Given the description of an element on the screen output the (x, y) to click on. 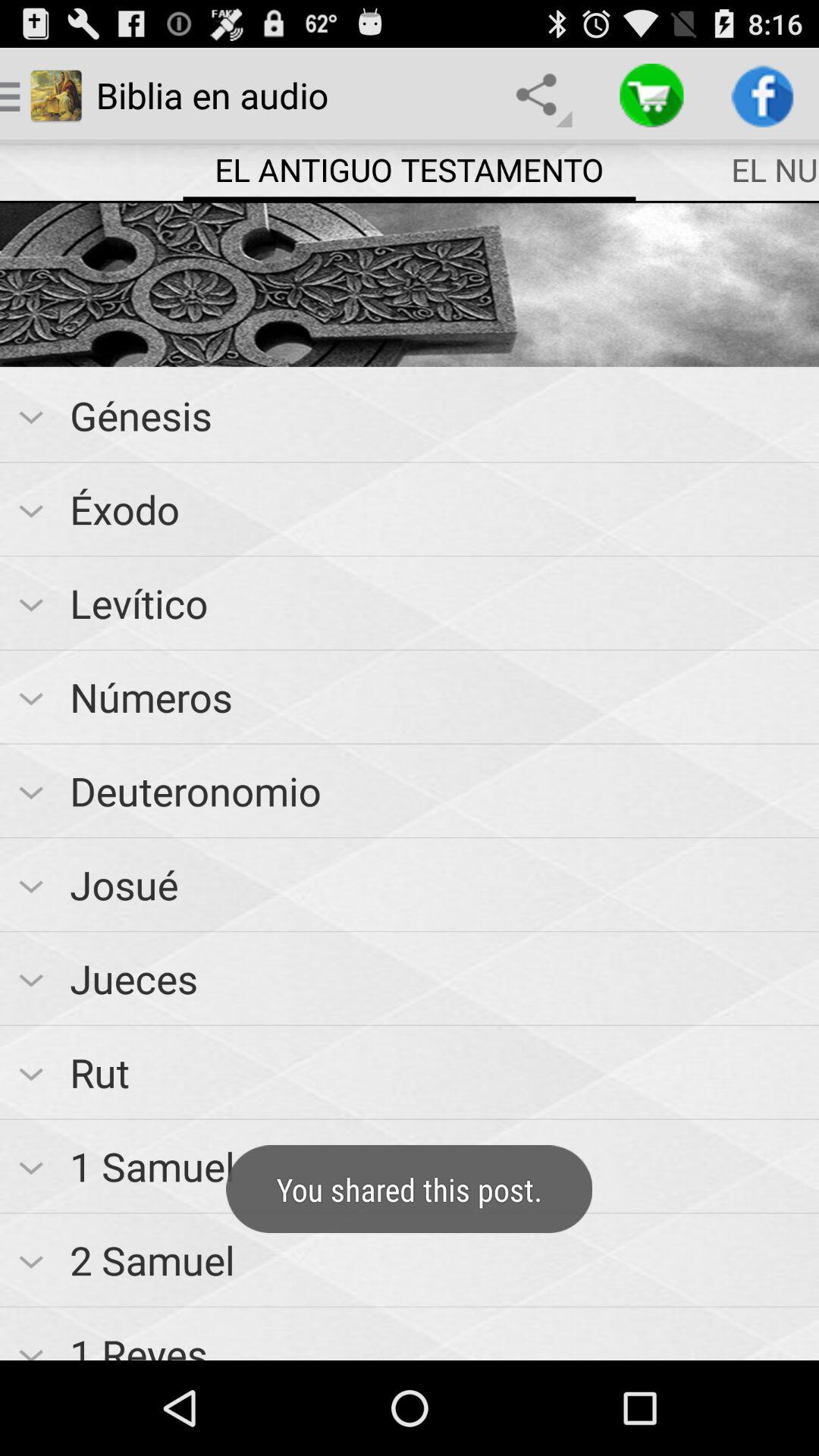
choose app above the el nuevo testamento item (763, 95)
